Given the description of an element on the screen output the (x, y) to click on. 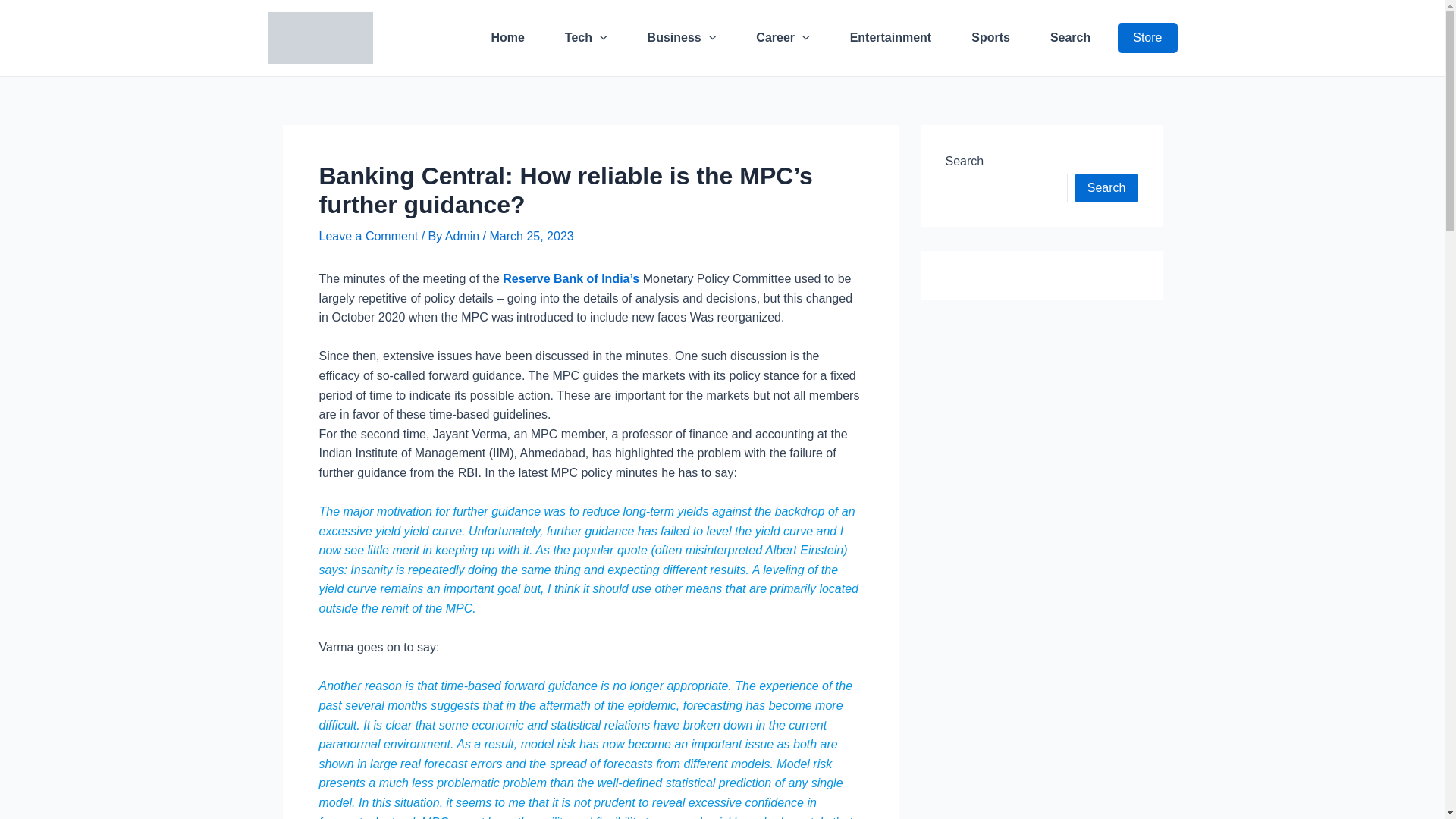
Tech (586, 37)
Career (782, 37)
View all posts by Admin (464, 236)
Business (681, 37)
Sports (990, 37)
Home (507, 37)
Search (1070, 37)
Store (1147, 37)
Entertainment (890, 37)
